Given the description of an element on the screen output the (x, y) to click on. 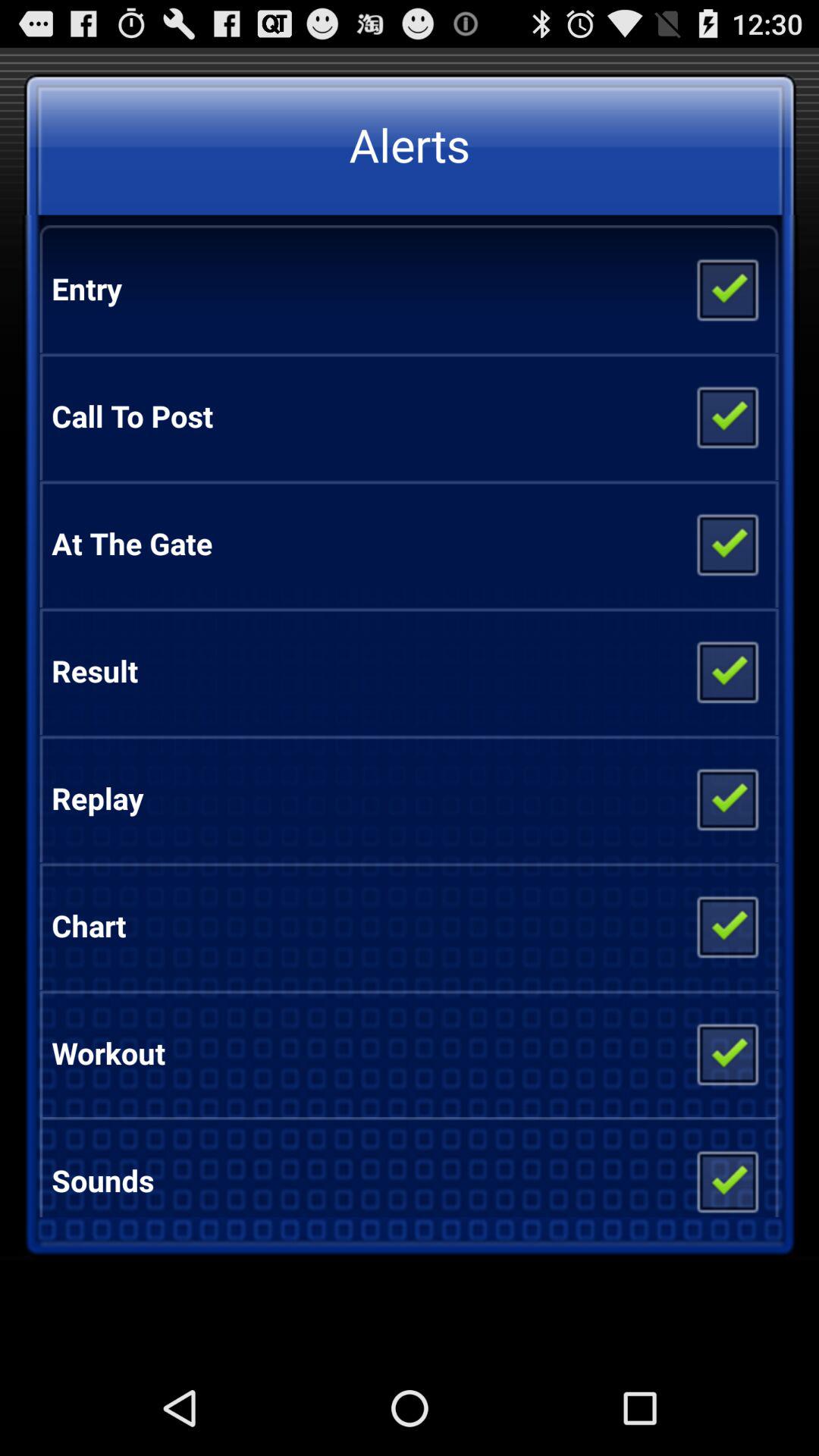
select item next to the workout (726, 1053)
